Given the description of an element on the screen output the (x, y) to click on. 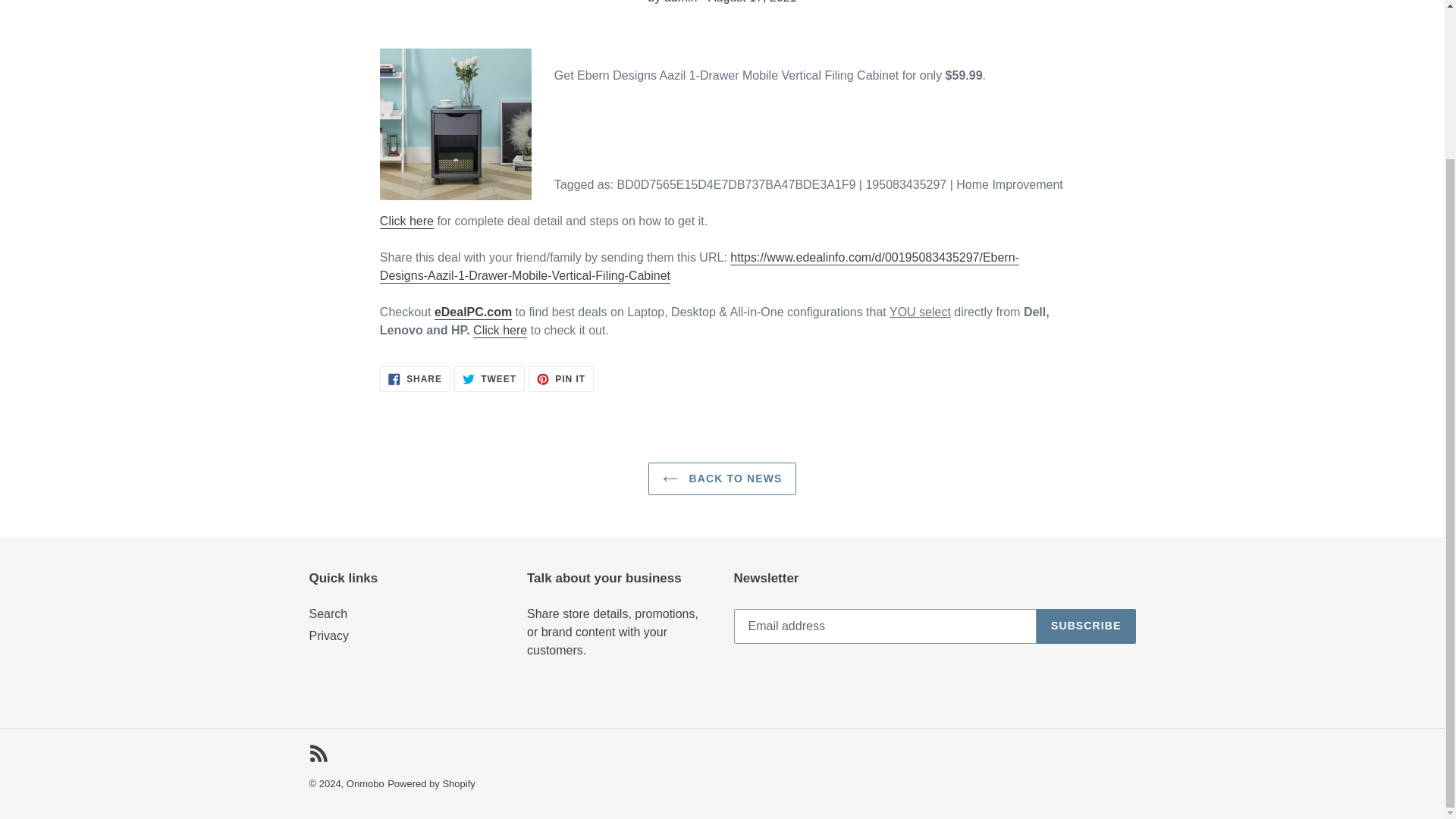
Onmobo (365, 783)
Click here (489, 379)
Click here (406, 221)
RSS (500, 330)
BACK TO NEWS (318, 752)
Powered by Shopify (721, 478)
SUBSCRIBE (414, 379)
Privacy (431, 783)
Search (1085, 626)
eDealPC.com (328, 635)
